Given the description of an element on the screen output the (x, y) to click on. 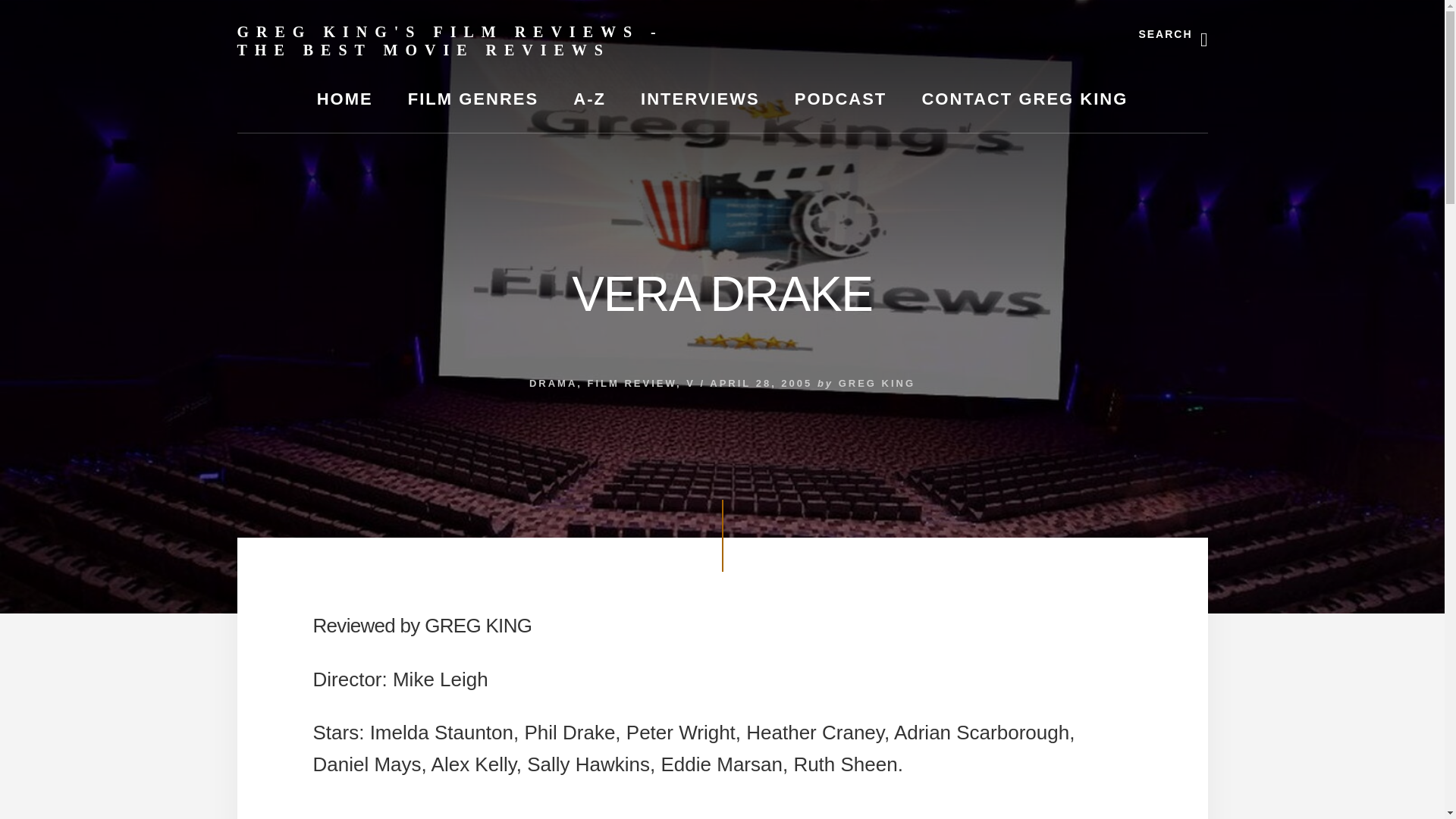
HOME (344, 99)
GREG KING'S FILM REVIEWS - THE BEST MOVIE REVIEWS (448, 40)
FILM GENRES (473, 99)
A-Z (589, 99)
